Given the description of an element on the screen output the (x, y) to click on. 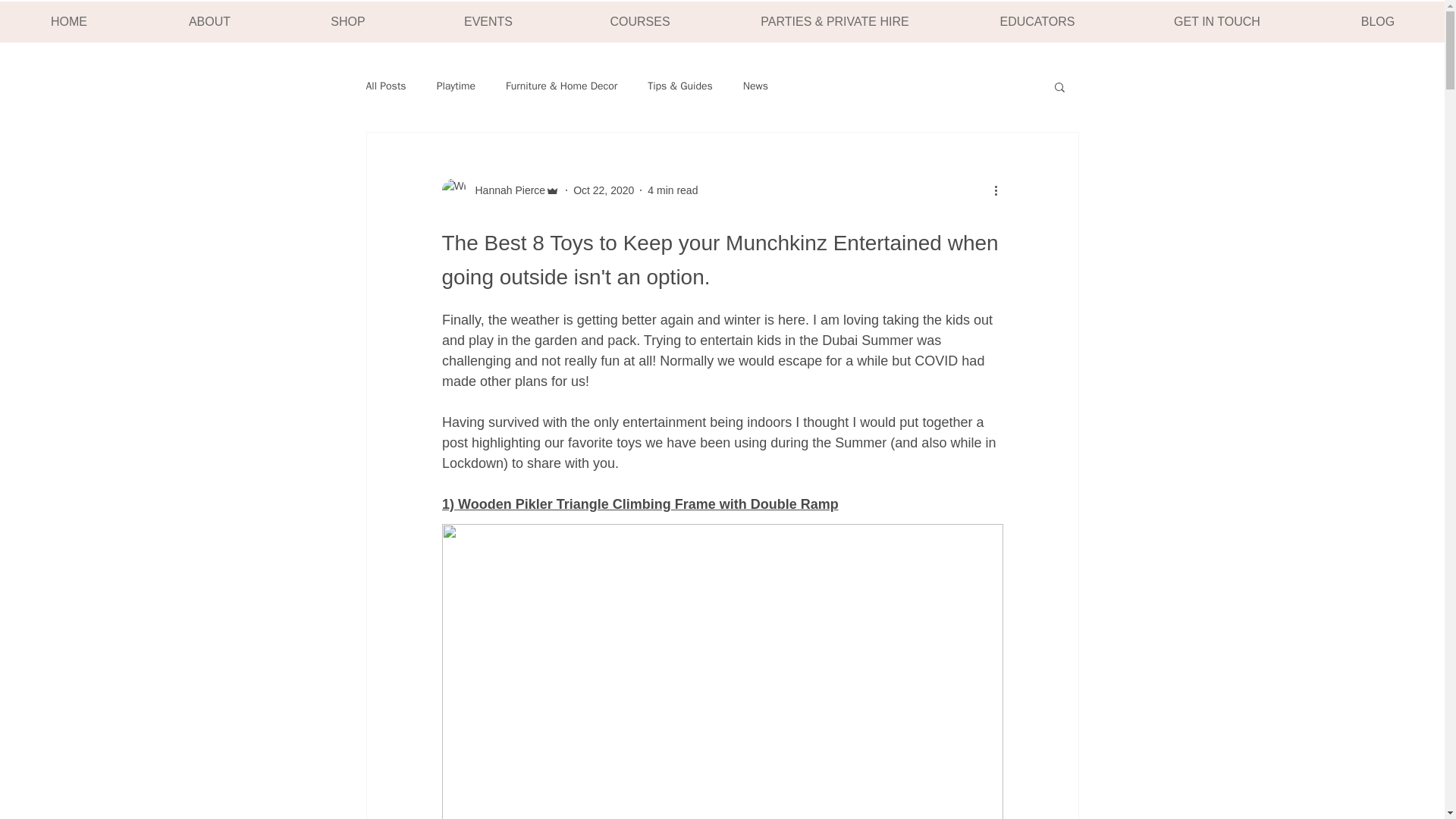
EVENTS (487, 21)
EDUCATORS (1036, 21)
Hannah Pierce (500, 190)
4 min read (672, 189)
Oct 22, 2020 (603, 189)
HOME (69, 21)
Playtime (456, 86)
GET IN TOUCH (1216, 21)
ABOUT (209, 21)
News (755, 86)
SHOP (347, 21)
Hannah Pierce (504, 189)
All Posts (385, 86)
COURSES (638, 21)
